Given the description of an element on the screen output the (x, y) to click on. 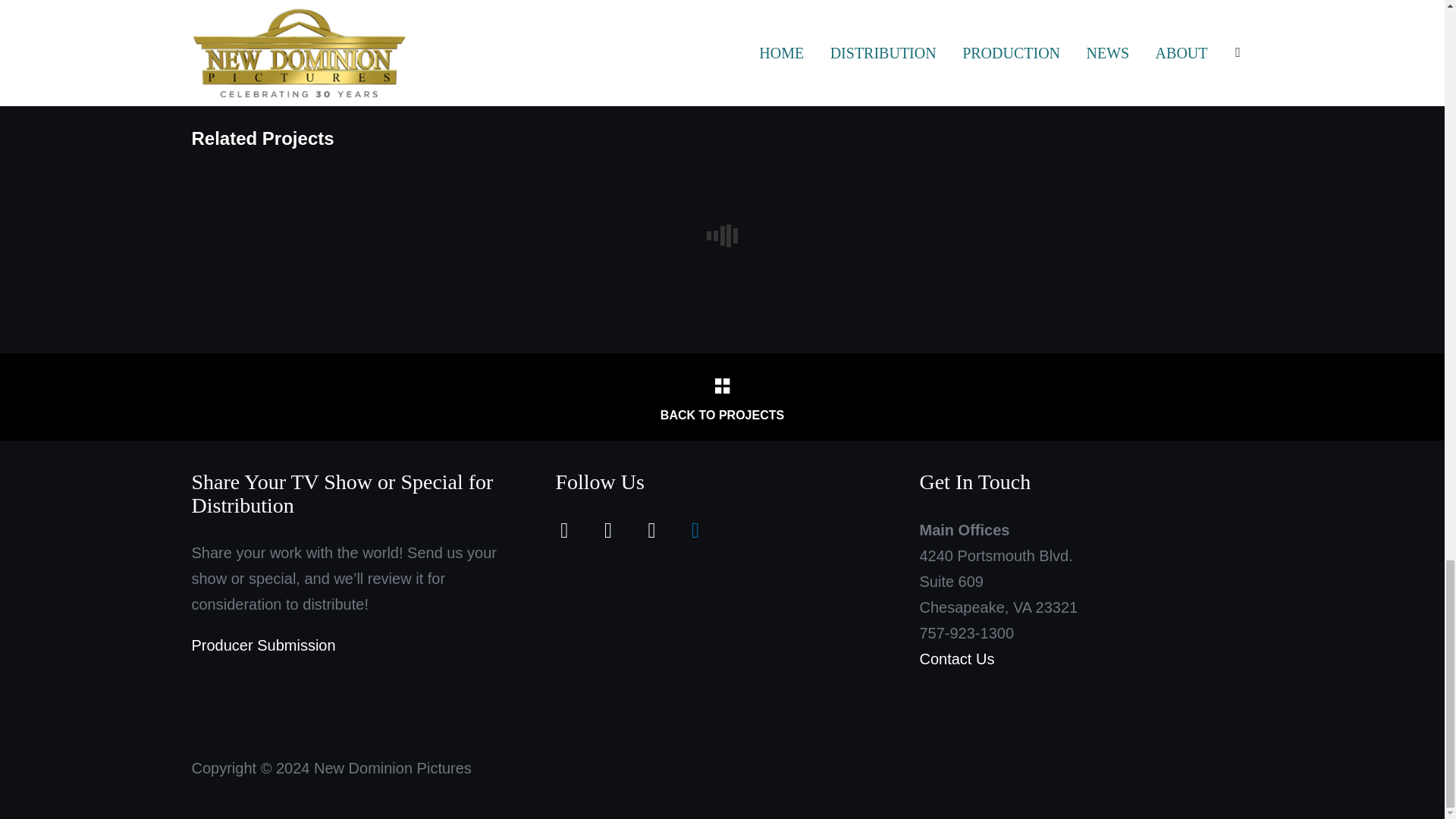
facebook (563, 528)
BACK TO PROJECTS (721, 396)
Contact Us (956, 658)
twitter (607, 528)
Producer Submission (262, 645)
Friend me on Facebook (563, 528)
instagram (651, 528)
linkedin (694, 528)
Follow Me (607, 528)
Default Label (651, 528)
